Given the description of an element on the screen output the (x, y) to click on. 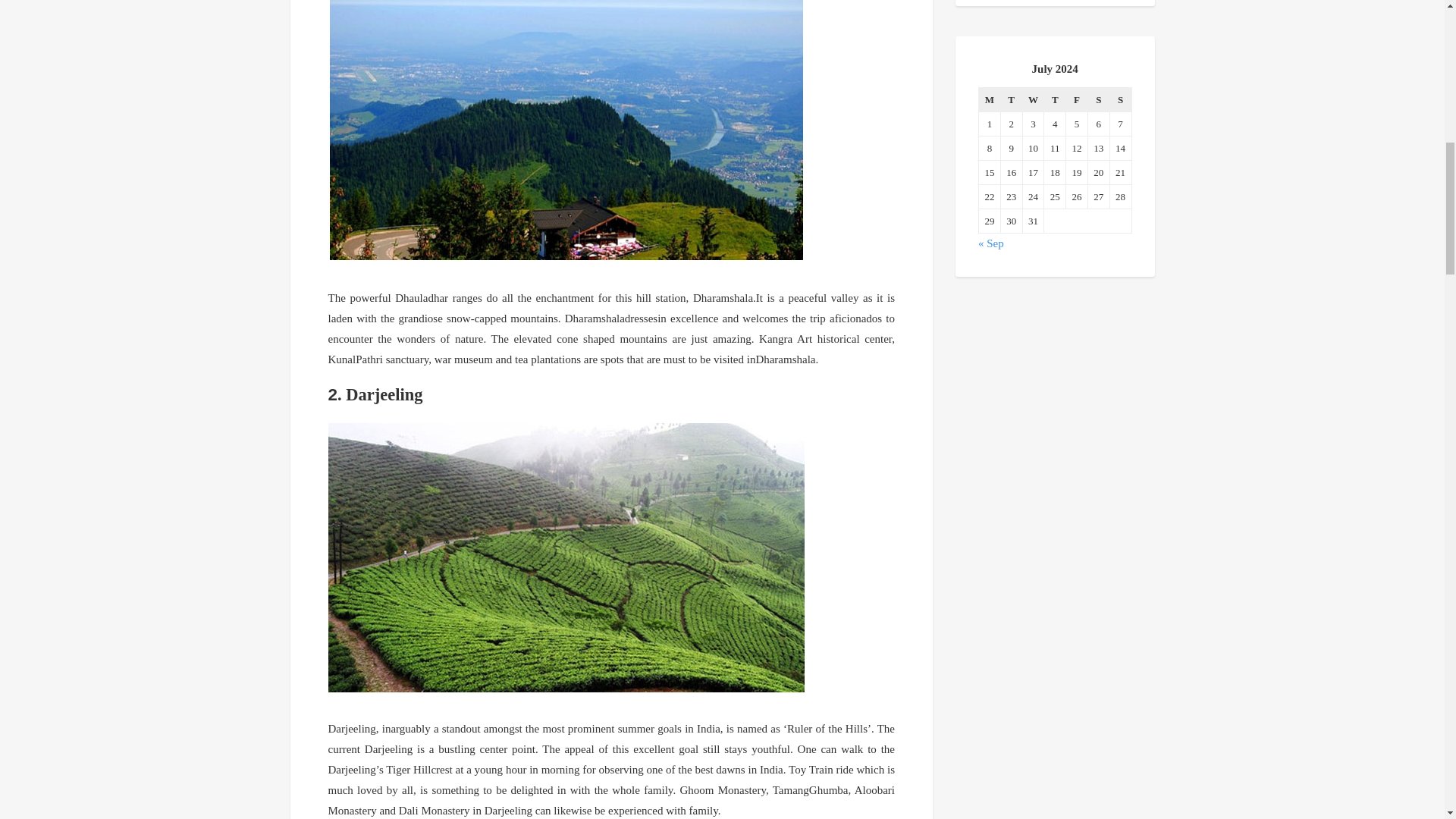
Thursday (1054, 99)
Friday (1076, 99)
Saturday (1098, 99)
Sunday (1120, 99)
Tuesday (1011, 99)
Monday (989, 99)
Wednesday (1032, 99)
